Given the description of an element on the screen output the (x, y) to click on. 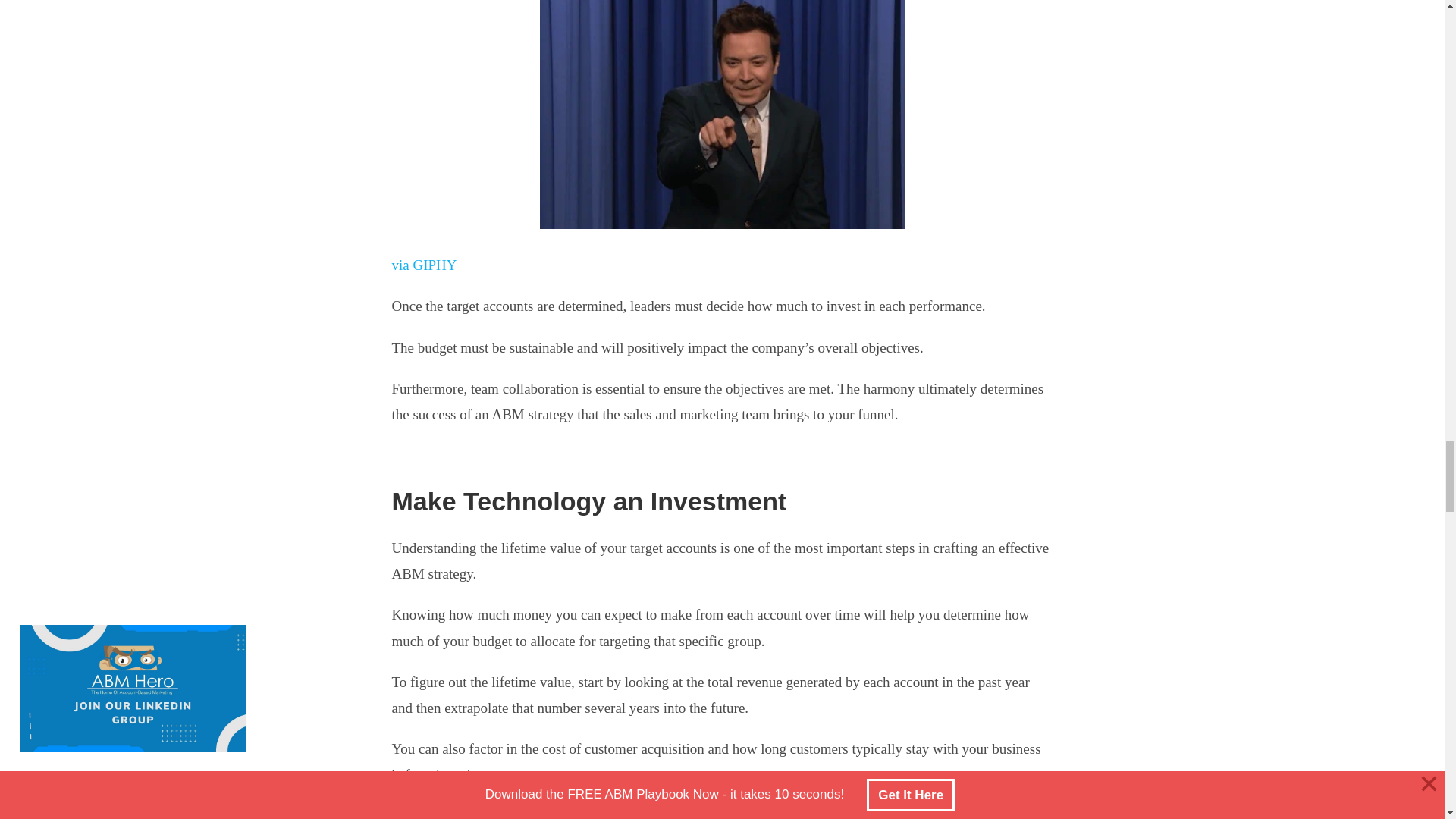
via GIPHY (424, 264)
